Given the description of an element on the screen output the (x, y) to click on. 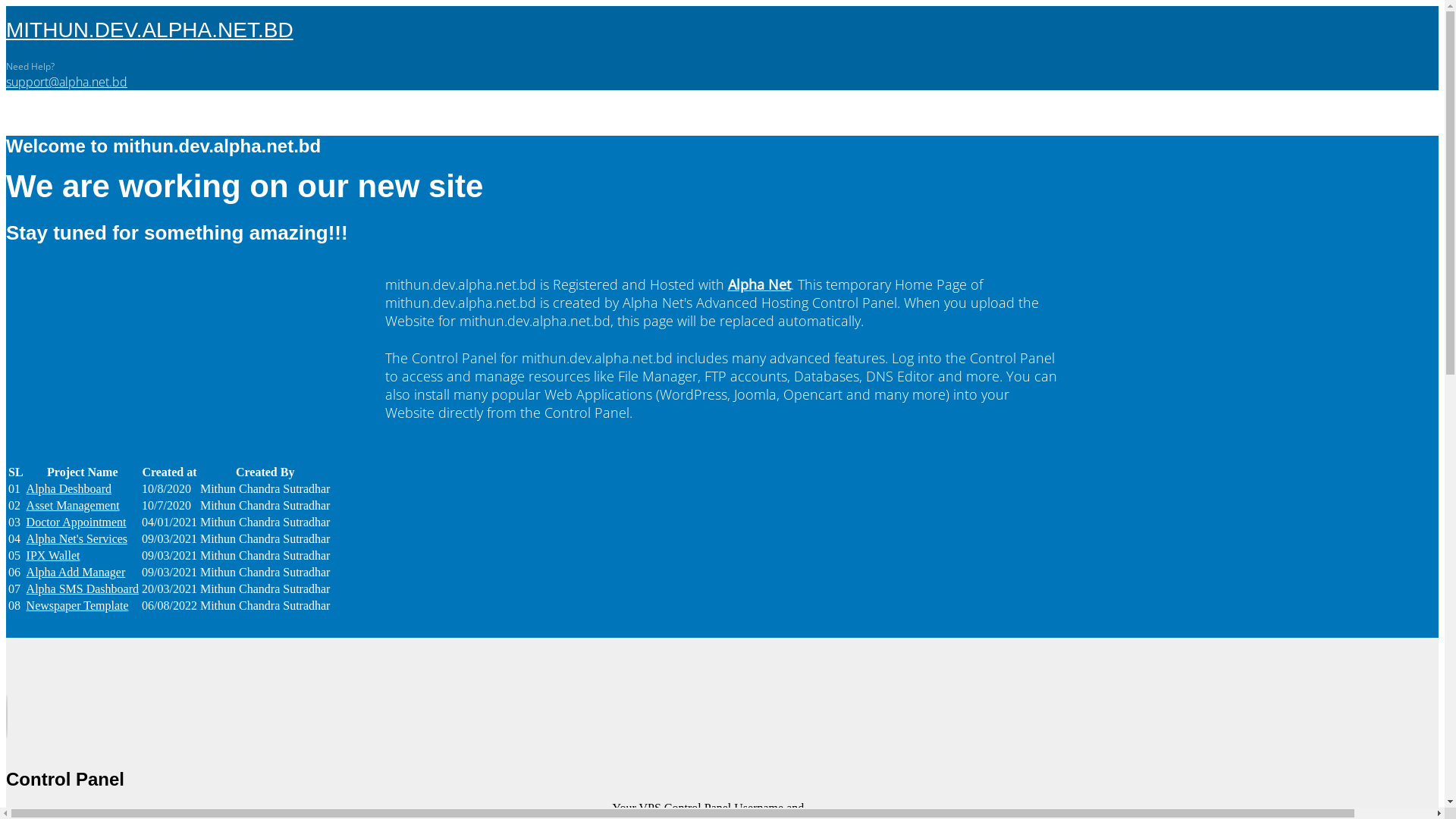
Alpha SMS Dashboard Element type: text (82, 588)
Alpha Net's Services Element type: text (77, 538)
Asset Management Element type: text (72, 504)
Alpha Add Manager Element type: text (75, 571)
Newspaper Template Element type: text (77, 605)
IPX Wallet Element type: text (53, 555)
Alpha Deshboard Element type: text (68, 488)
Alpha Net Element type: text (759, 284)
MITHUN.DEV.ALPHA.NET.BD Element type: text (149, 29)
Doctor Appointment Element type: text (76, 521)
Need Help?
support@alpha.net.bd Element type: text (66, 73)
